Given the description of an element on the screen output the (x, y) to click on. 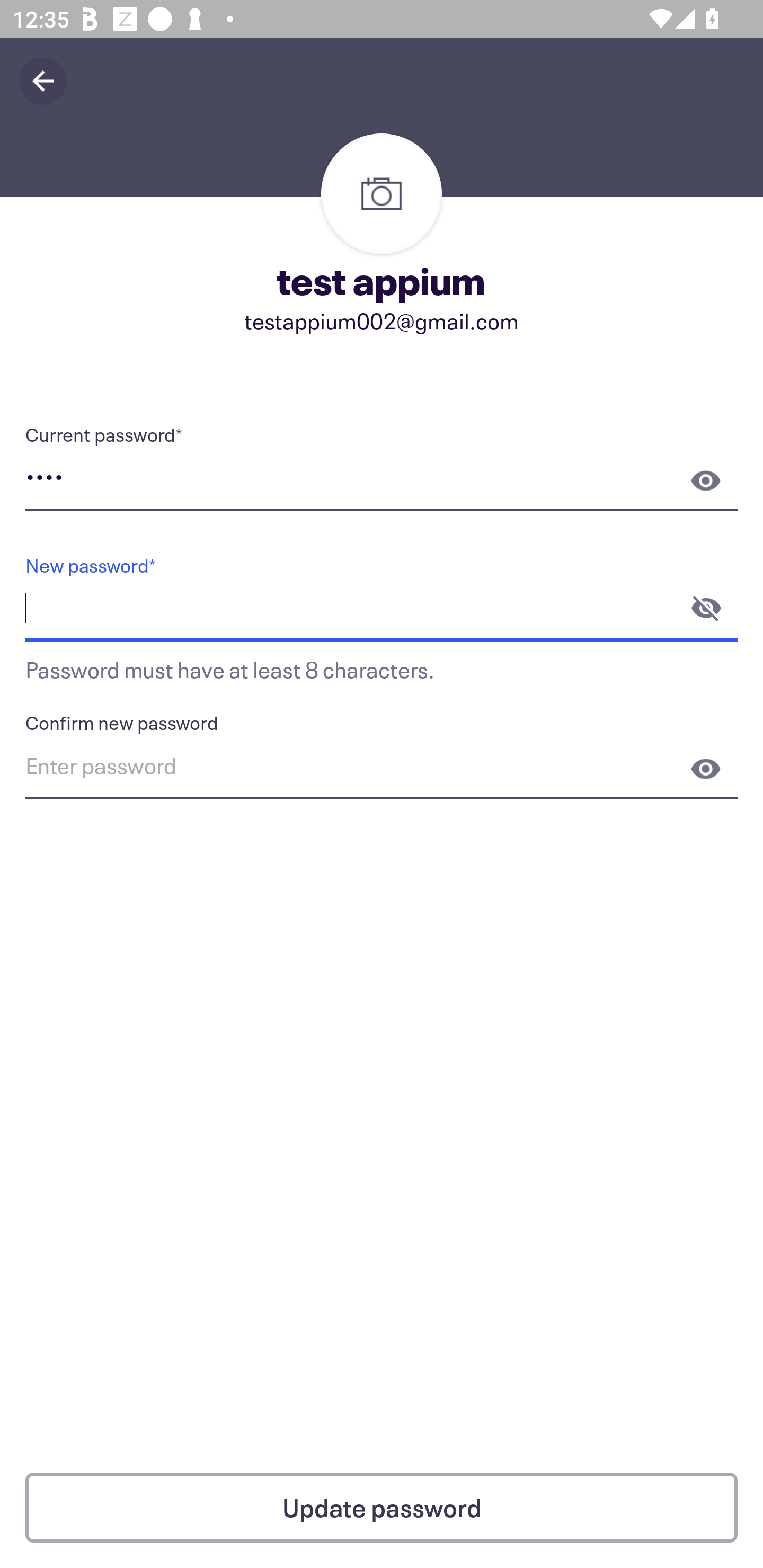
•••• (381, 480)
Show password (705, 480)
Enter password (381, 768)
Show password (705, 768)
Update password (381, 1507)
